Given the description of an element on the screen output the (x, y) to click on. 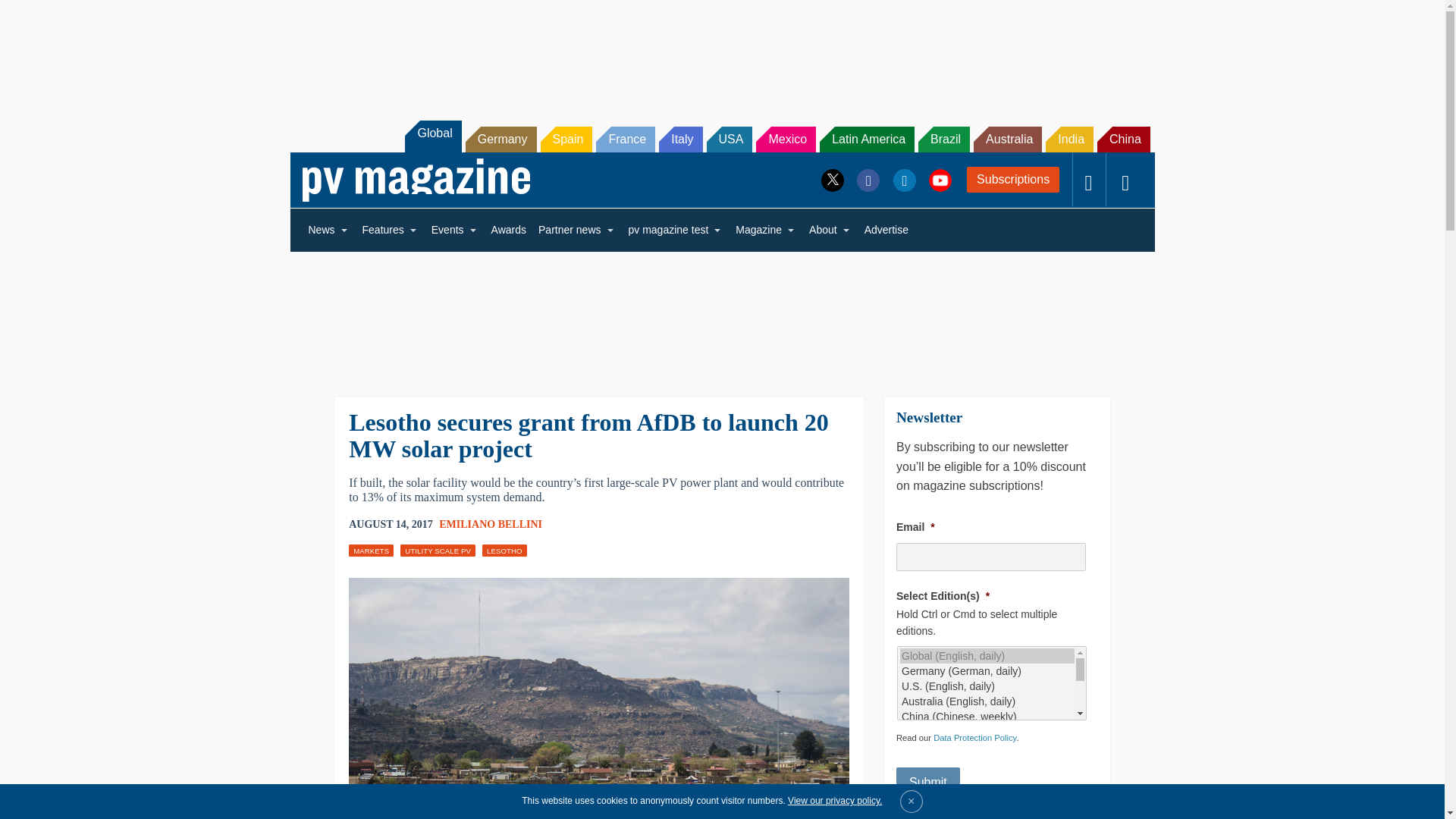
Italy (680, 139)
Brazil (943, 139)
India (1069, 139)
Posts by Emiliano Bellini (490, 523)
3rd party ad content (721, 51)
Subscriptions (1012, 179)
pv magazine - Photovoltaics Markets and Technology (415, 179)
Latin America (866, 139)
China (1123, 139)
3rd party ad content (721, 314)
Search (32, 15)
pv magazine - Photovoltaics Markets and Technology (415, 180)
Mexico (785, 139)
USA (729, 139)
Australia (1008, 139)
